Given the description of an element on the screen output the (x, y) to click on. 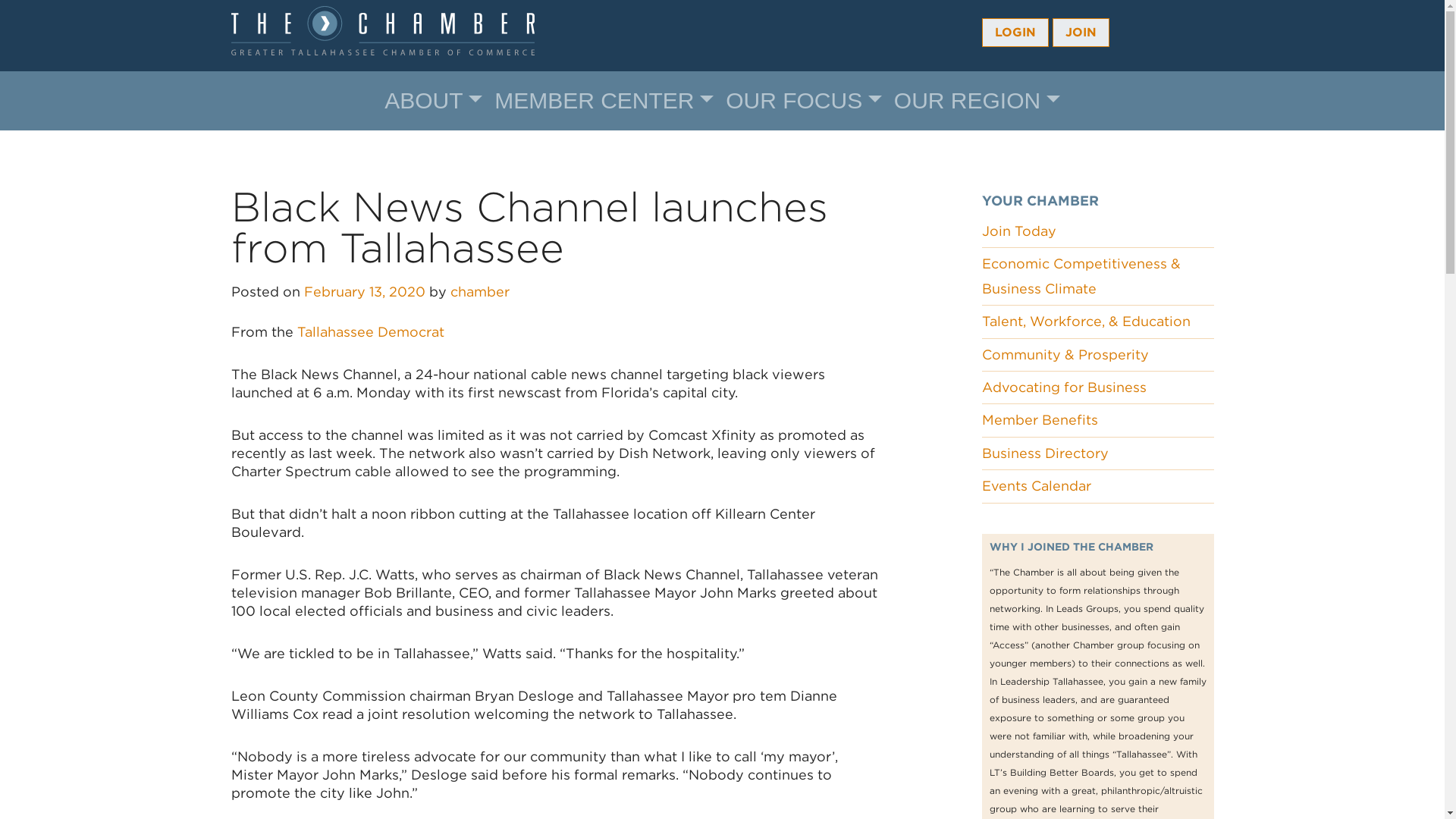
JOIN (1080, 32)
LOGIN (1014, 32)
MEMBER CENTER (603, 100)
ABOUT (432, 100)
Member Center (603, 100)
About (432, 100)
